Given the description of an element on the screen output the (x, y) to click on. 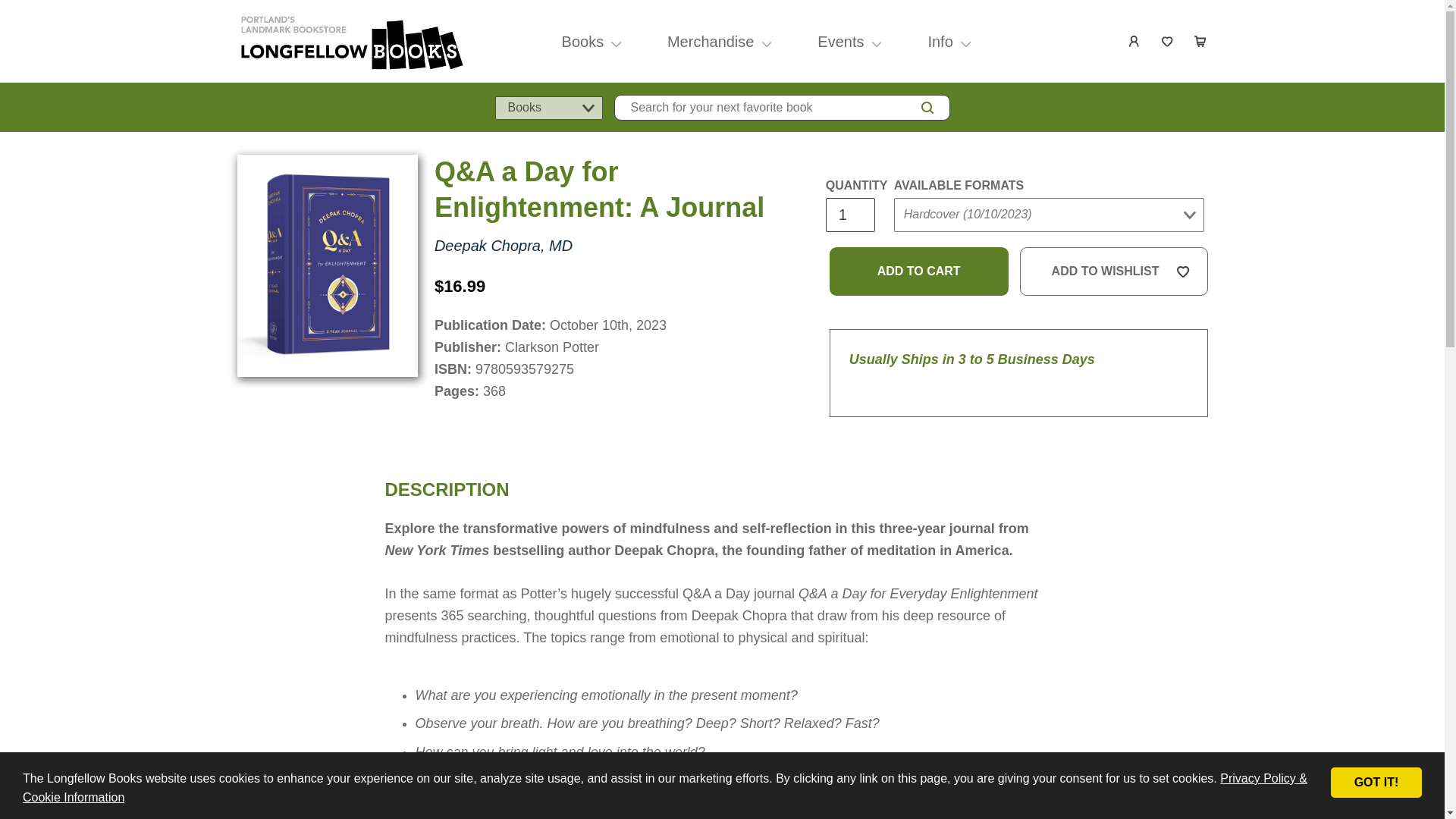
BOOKS SUB-NAVIGATION (616, 41)
Info (940, 41)
Log in (1134, 41)
SEARCH (926, 107)
INFO SUB-NAVIGATION (965, 41)
Events (840, 41)
Add to cart (919, 271)
Merchandise (710, 41)
Wishlist (1168, 41)
Cart (1201, 41)
MERCHANDISE SUB-NAVIGATION (766, 41)
Wishlists (1168, 41)
Add to cart (919, 271)
Log in (1134, 41)
Deepak Chopra, MD (502, 245)
